Given the description of an element on the screen output the (x, y) to click on. 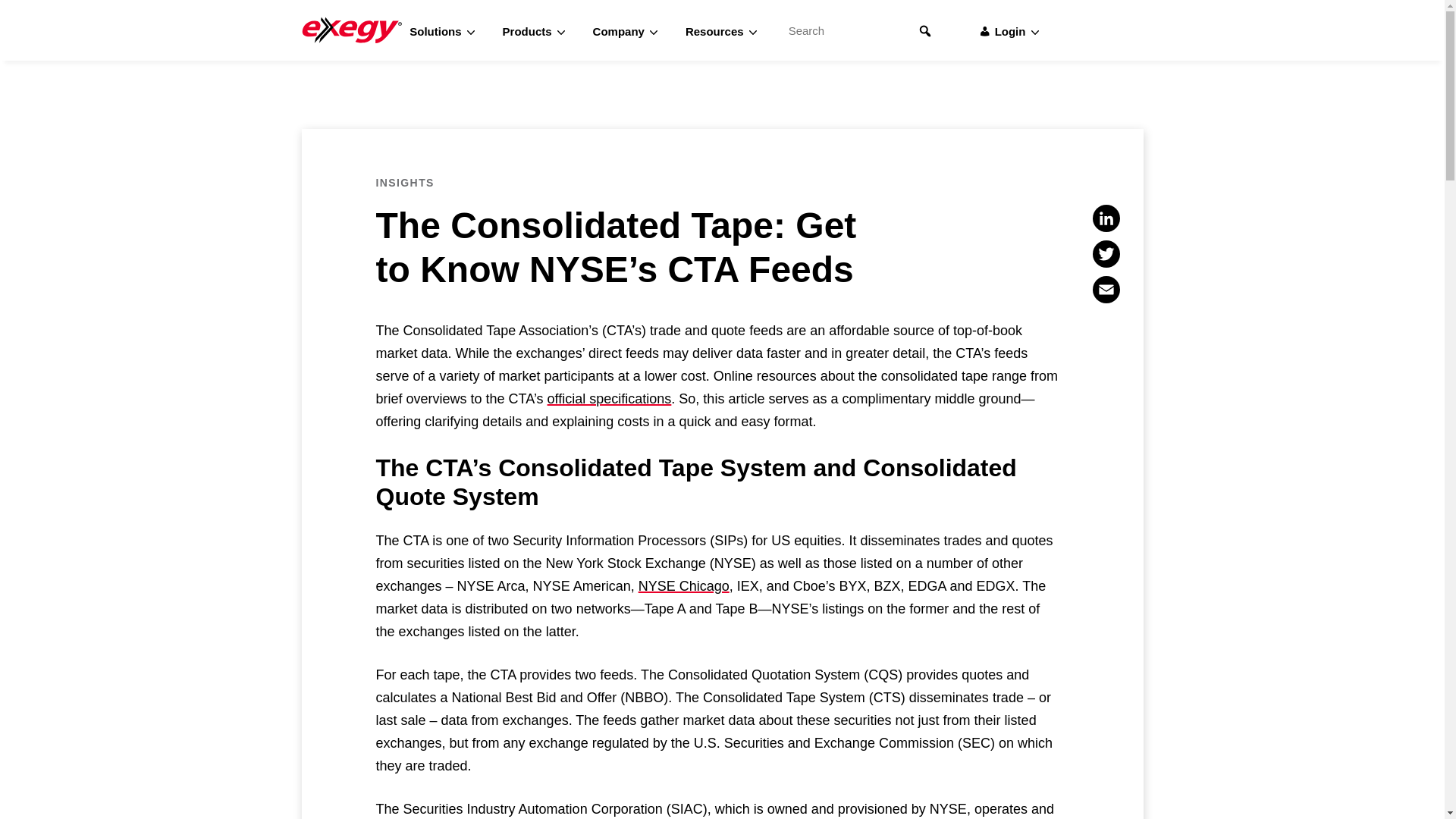
Email (1105, 290)
LinkedIn (1105, 219)
Exegy (355, 30)
Twitter (1105, 255)
